Given the description of an element on the screen output the (x, y) to click on. 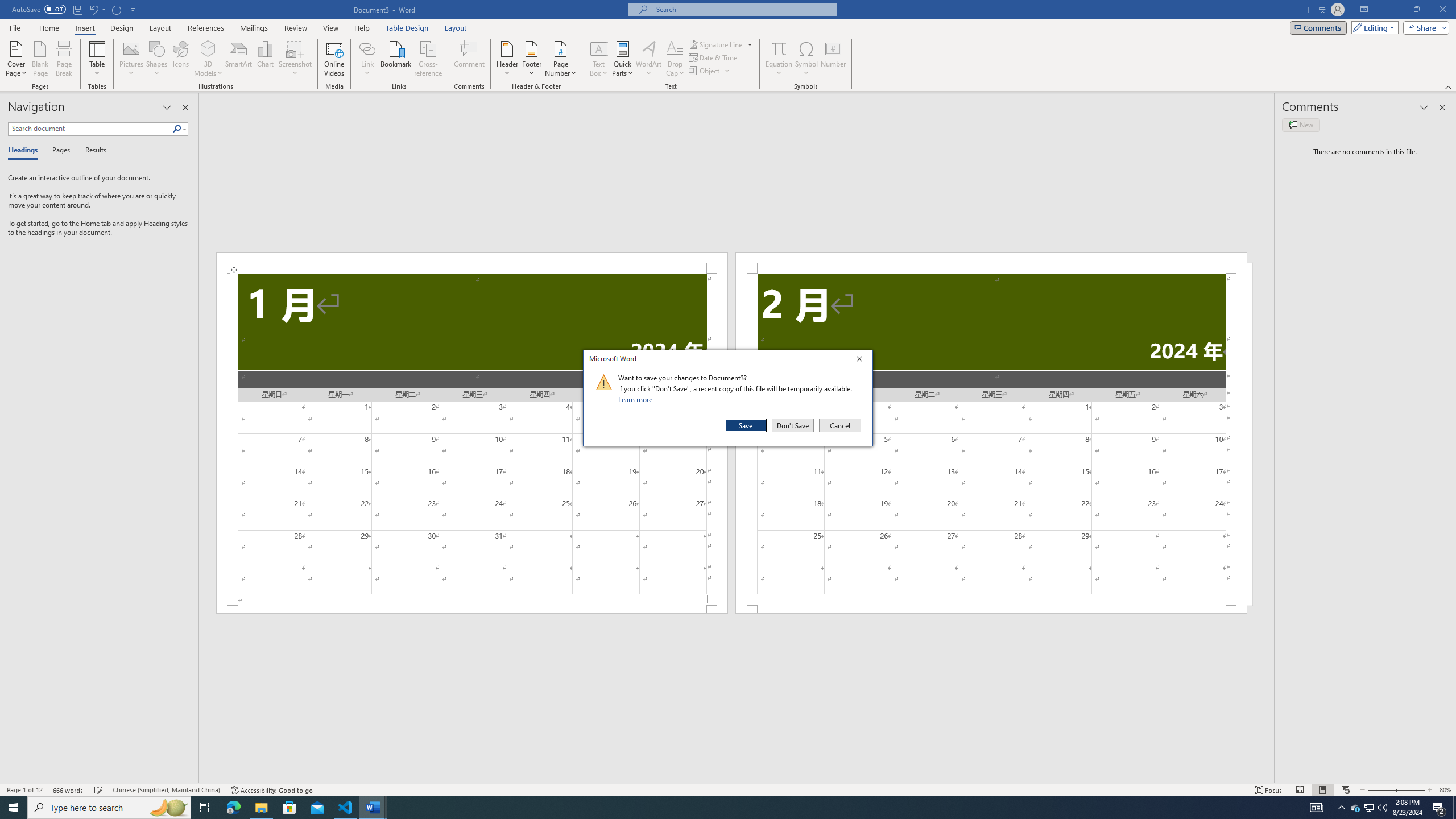
Comments (1318, 27)
Don't Save (792, 425)
File Tab (15, 27)
Visual Studio Code - 1 running window (345, 807)
Undo Increase Indent (96, 9)
Headings (25, 150)
Repeat Doc Close (117, 9)
Equation (778, 48)
Date & Time... (714, 56)
Blank Page (40, 58)
Class: NetUIImage (603, 382)
Close pane (185, 107)
Task Pane Options (167, 107)
Cancel (839, 425)
